Given the description of an element on the screen output the (x, y) to click on. 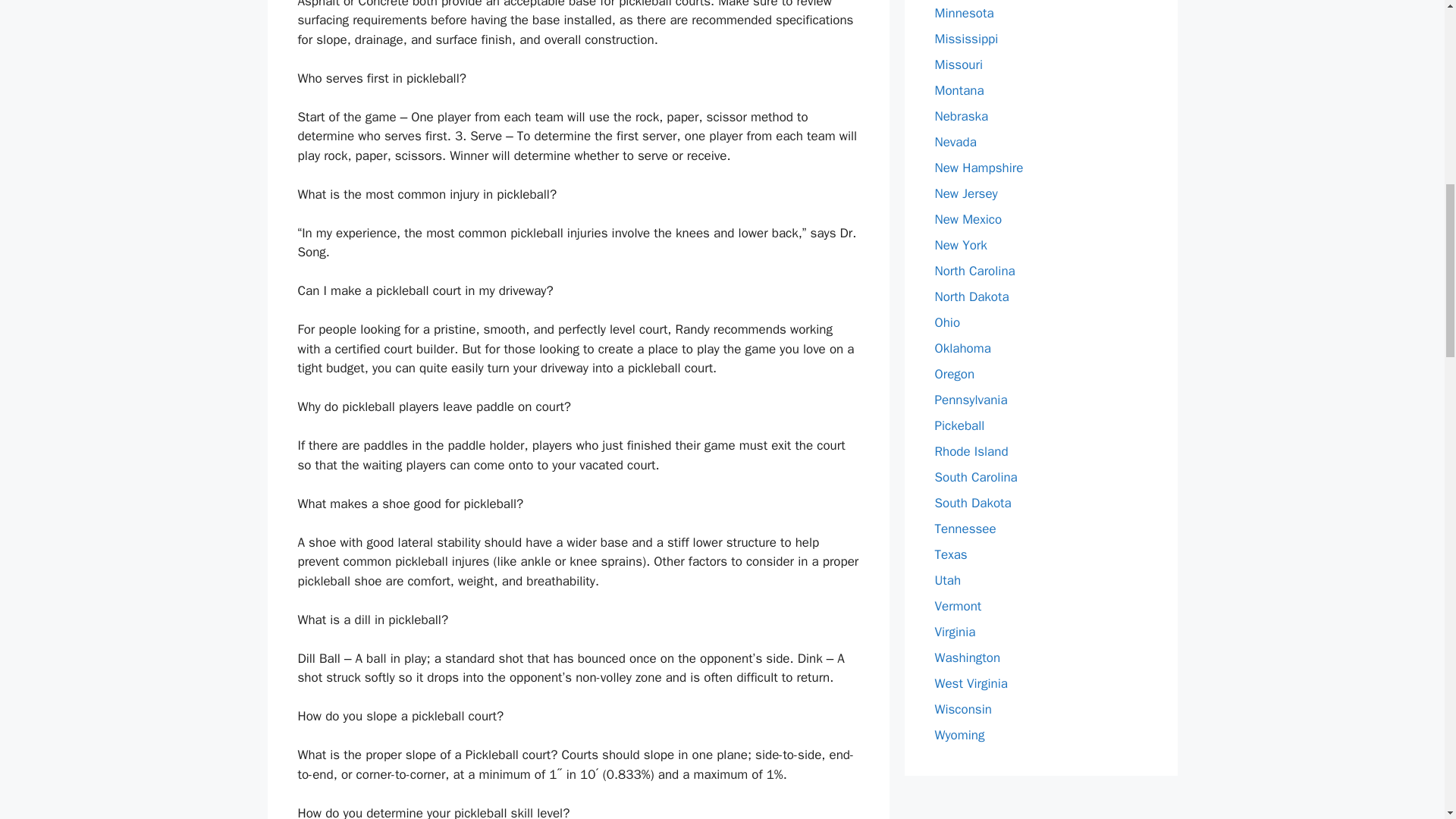
Minnesota (963, 12)
Mississippi (965, 38)
Advertisement (1040, 804)
